Given the description of an element on the screen output the (x, y) to click on. 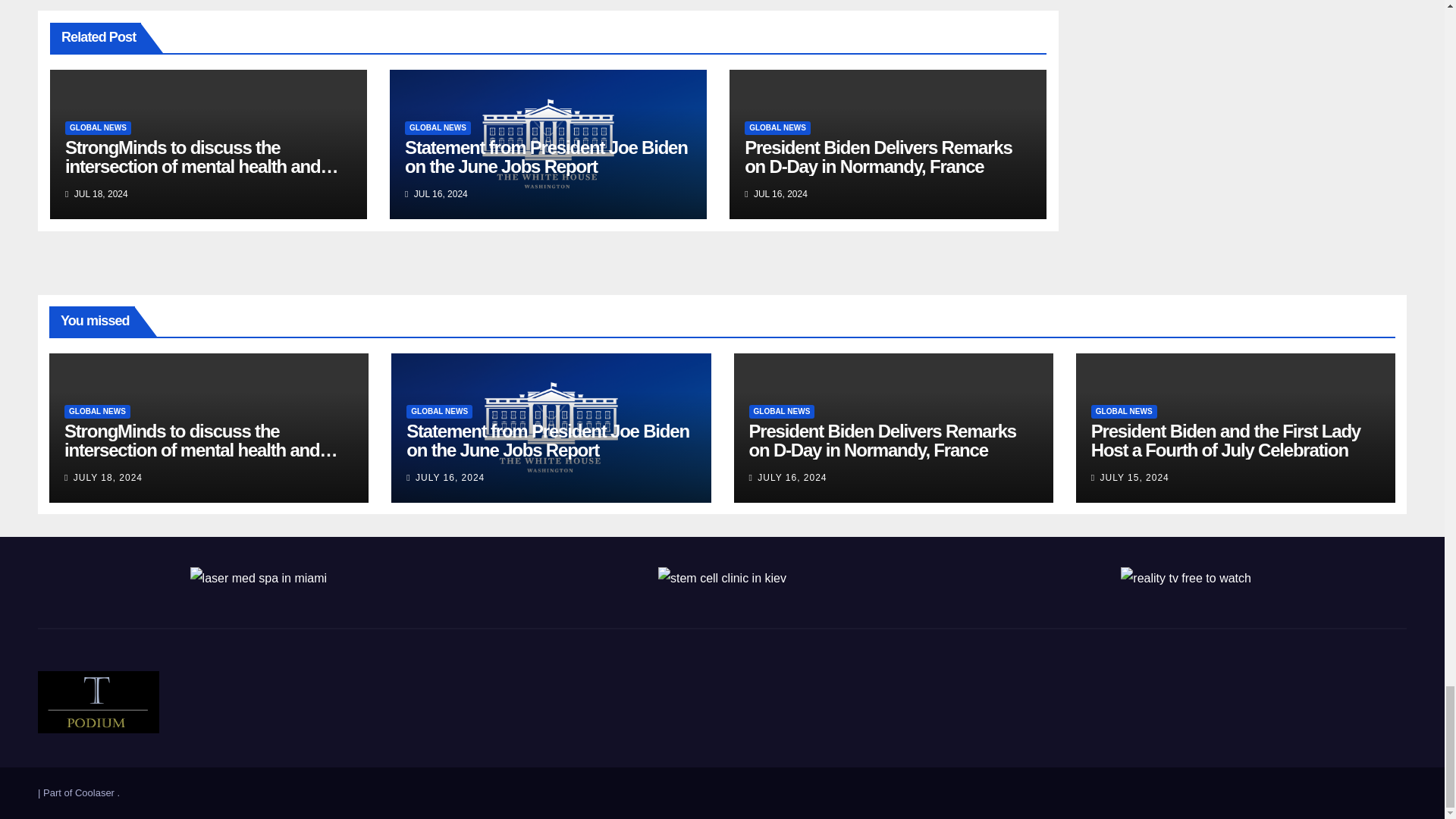
GLOBAL NEWS (437, 128)
GLOBAL NEWS (98, 128)
GLOBAL NEWS (777, 128)
Statement from President Joe Biden on the June Jobs Report (545, 156)
